Given the description of an element on the screen output the (x, y) to click on. 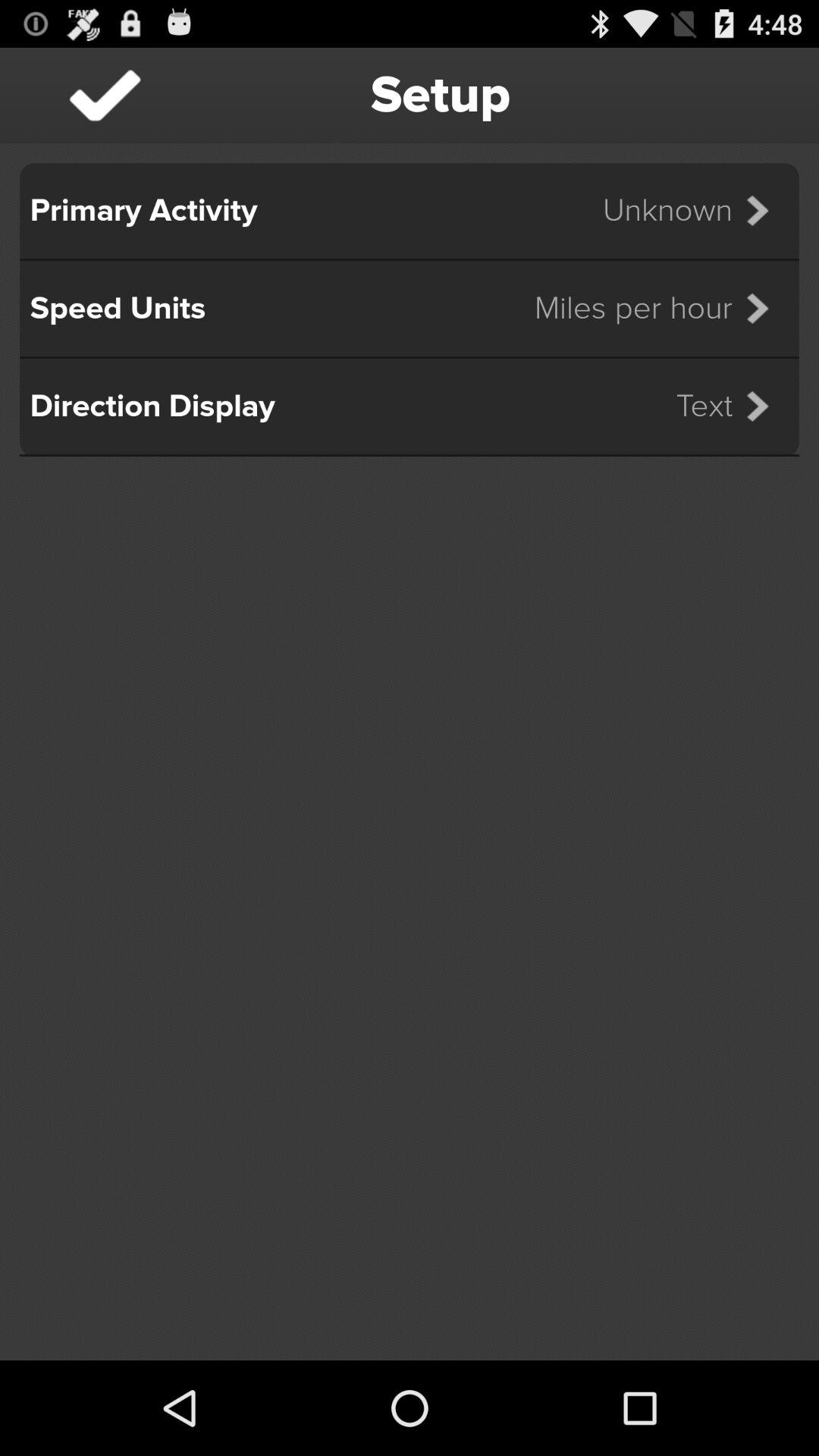
confirm selection (104, 95)
